Given the description of an element on the screen output the (x, y) to click on. 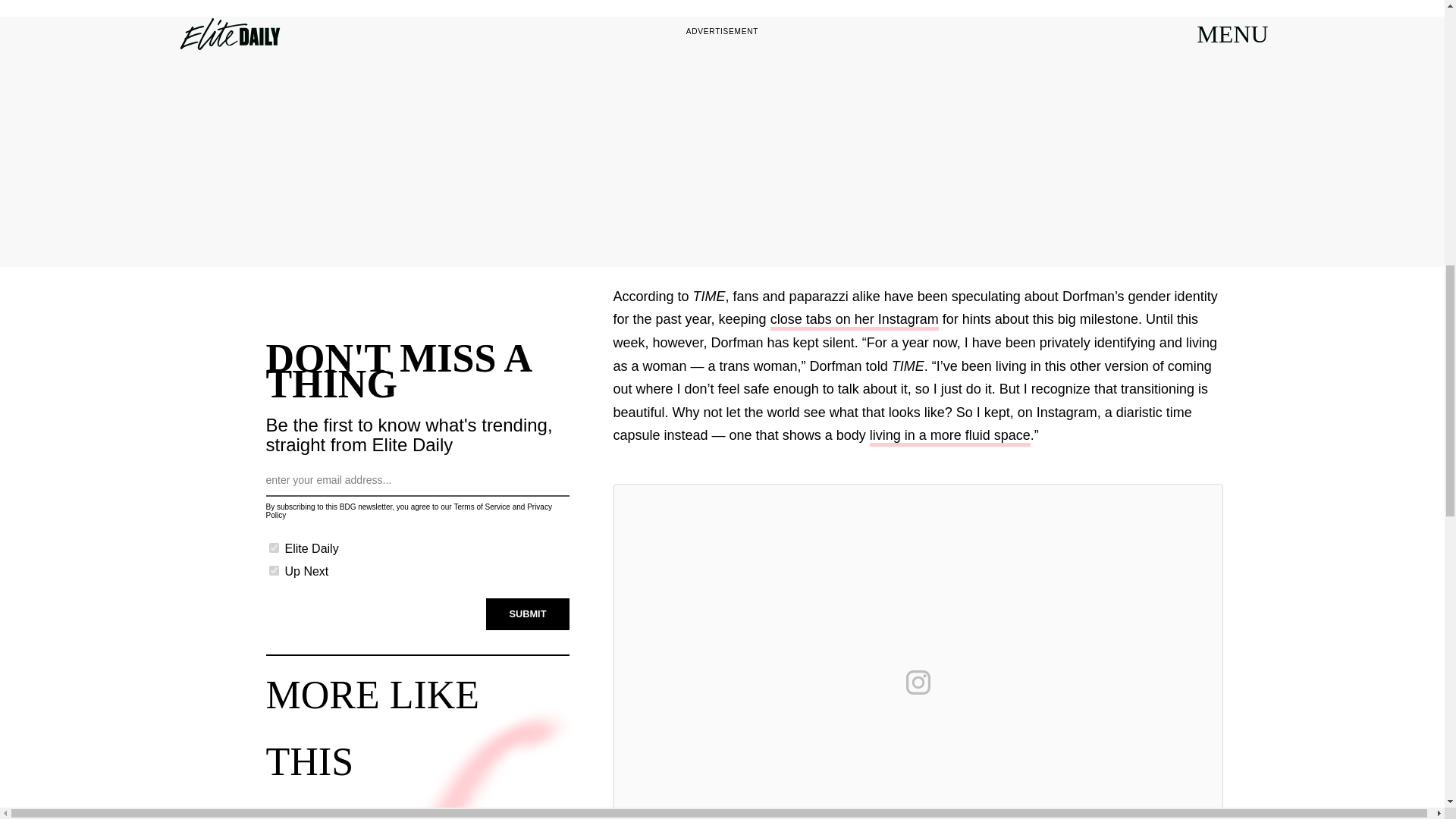
View on Instagram (917, 682)
SUBMIT (527, 613)
Terms of Service (480, 506)
living in a more fluid space (949, 436)
close tabs on her Instagram (854, 321)
Privacy Policy (407, 510)
